Given the description of an element on the screen output the (x, y) to click on. 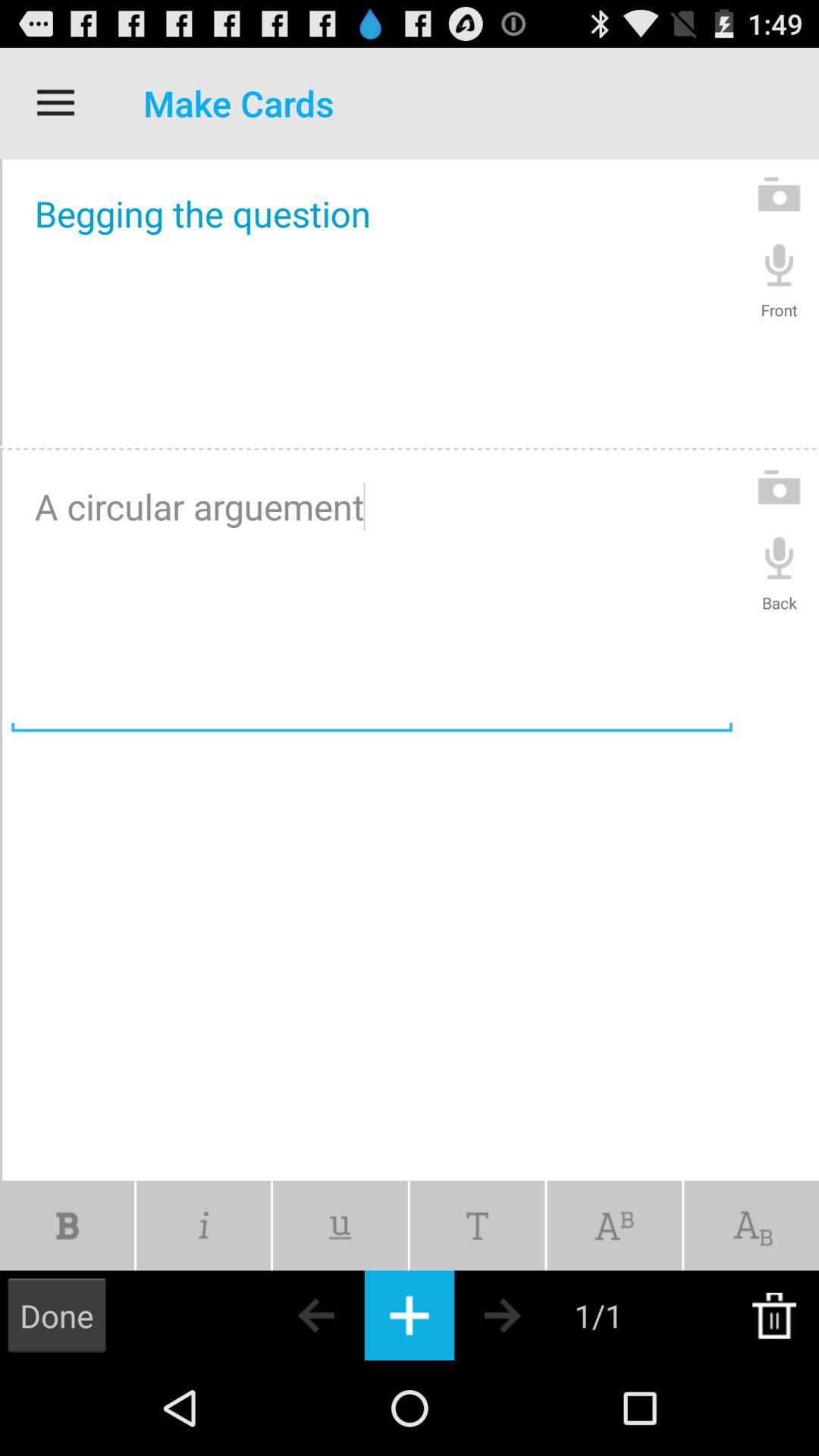
click icon below the a circular arguement icon (477, 1225)
